Given the description of an element on the screen output the (x, y) to click on. 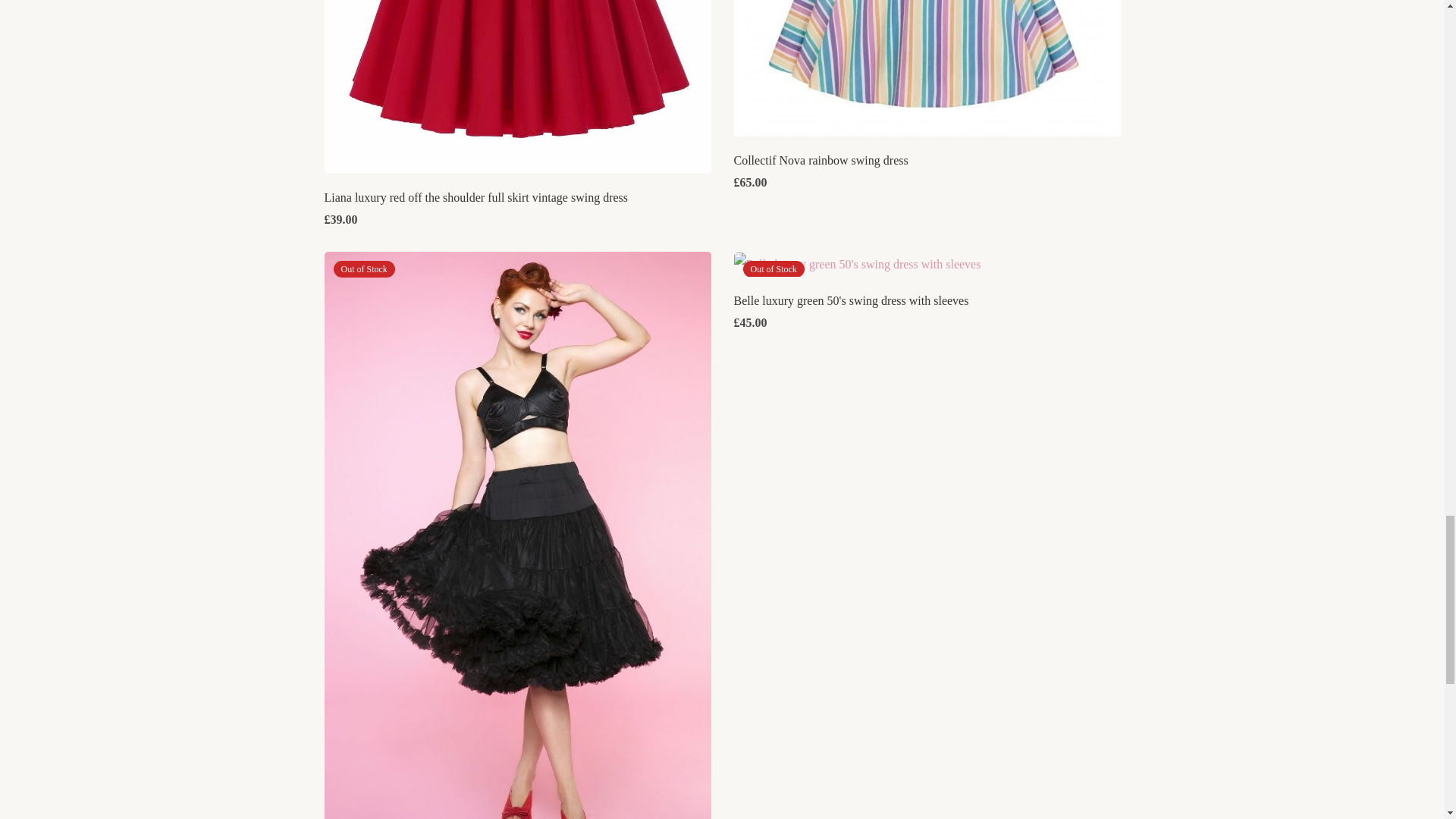
Collectif Nova rainbow swing dress (820, 160)
Belle luxury green 50's swing dress with sleeves (857, 263)
Black 26" luxury fluffy petticoat Size 8-22 (517, 556)
Belle luxury green 50's swing dress with sleeves (851, 300)
